Given the description of an element on the screen output the (x, y) to click on. 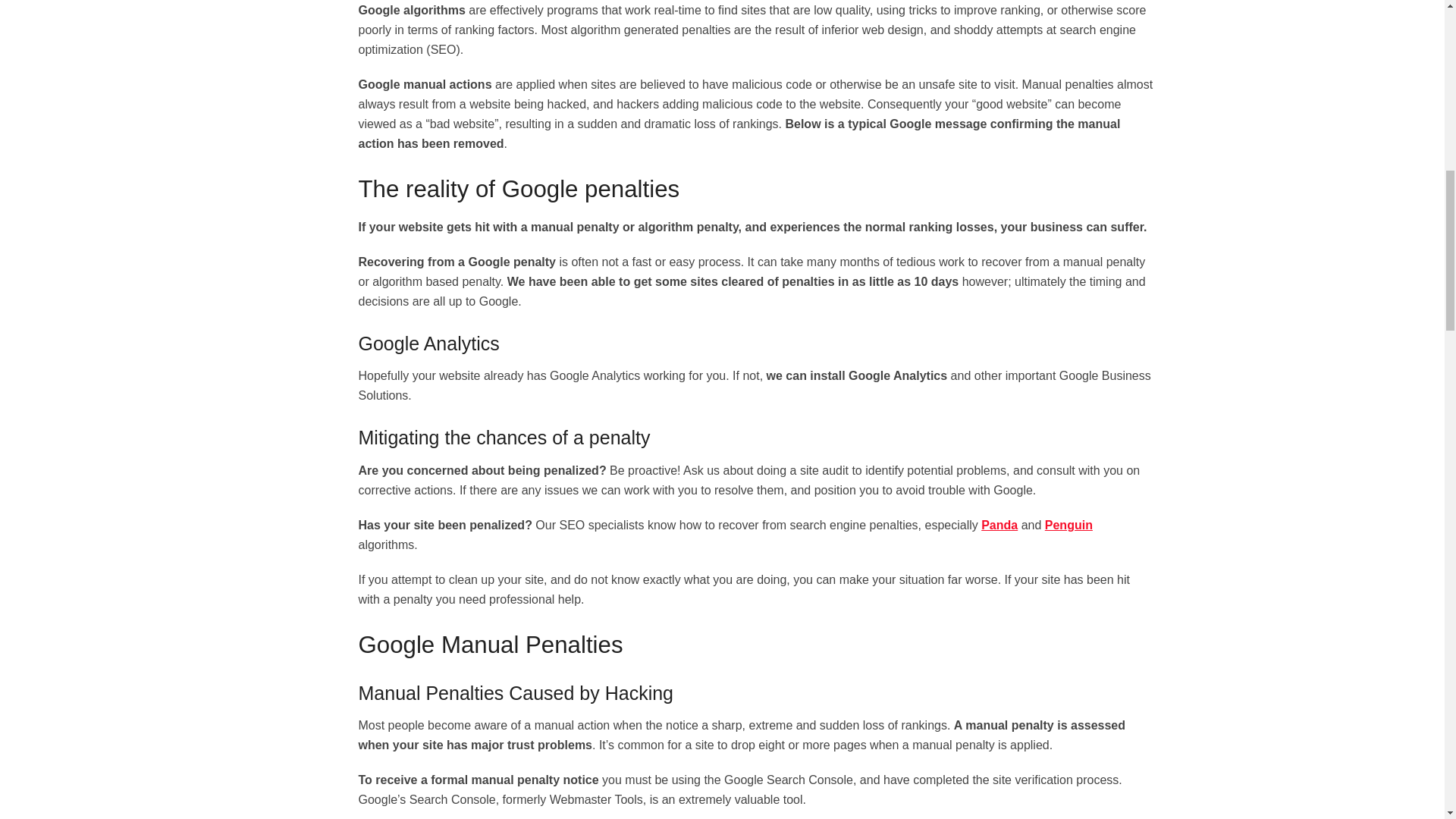
Google Penguin algorithm update (1069, 524)
Google Panda algorithm update (999, 524)
